Given the description of an element on the screen output the (x, y) to click on. 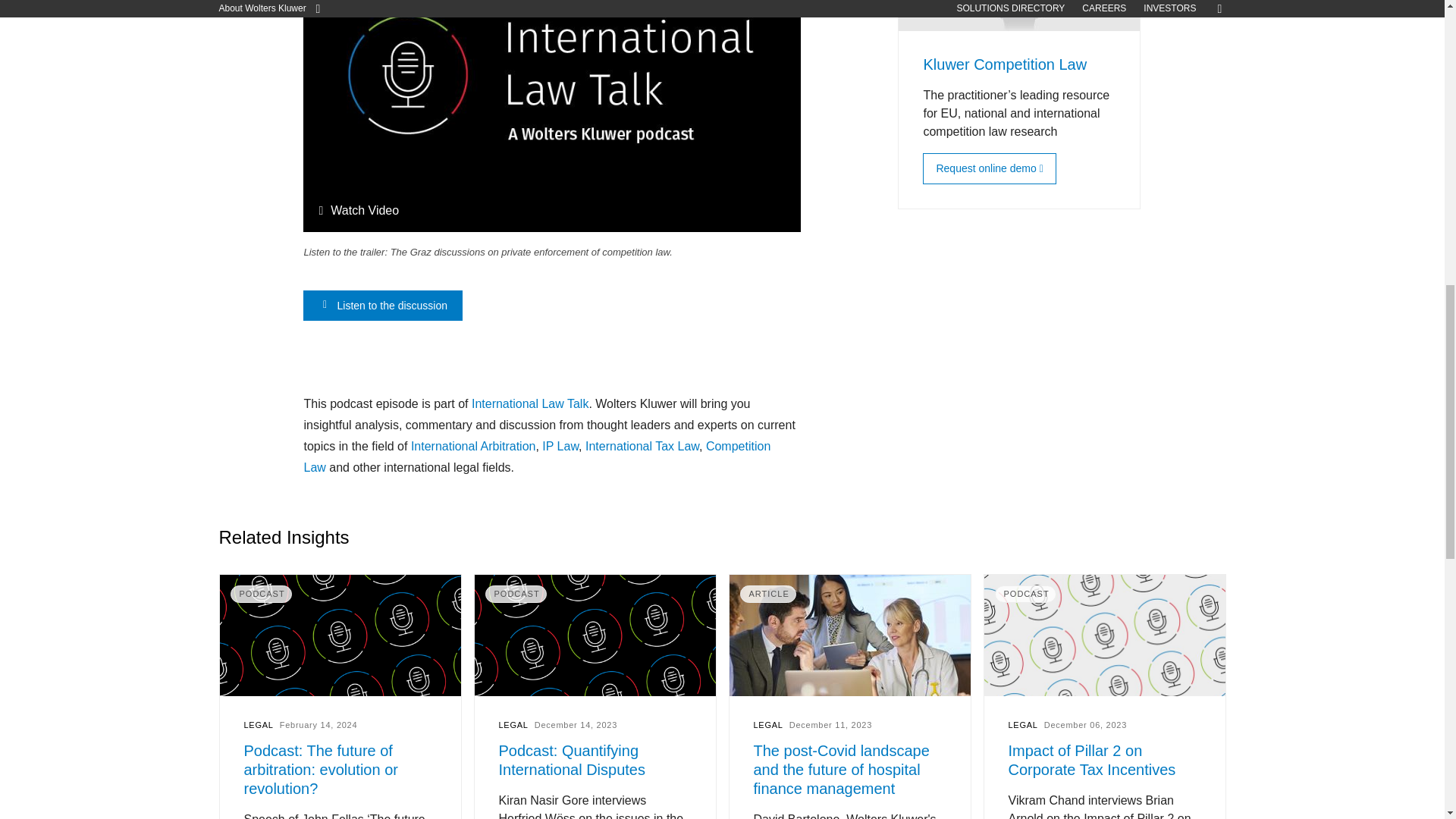
Listen to the discussion (382, 305)
Request a demo (985, 168)
wk-icon-arrow-right (324, 304)
